Given the description of an element on the screen output the (x, y) to click on. 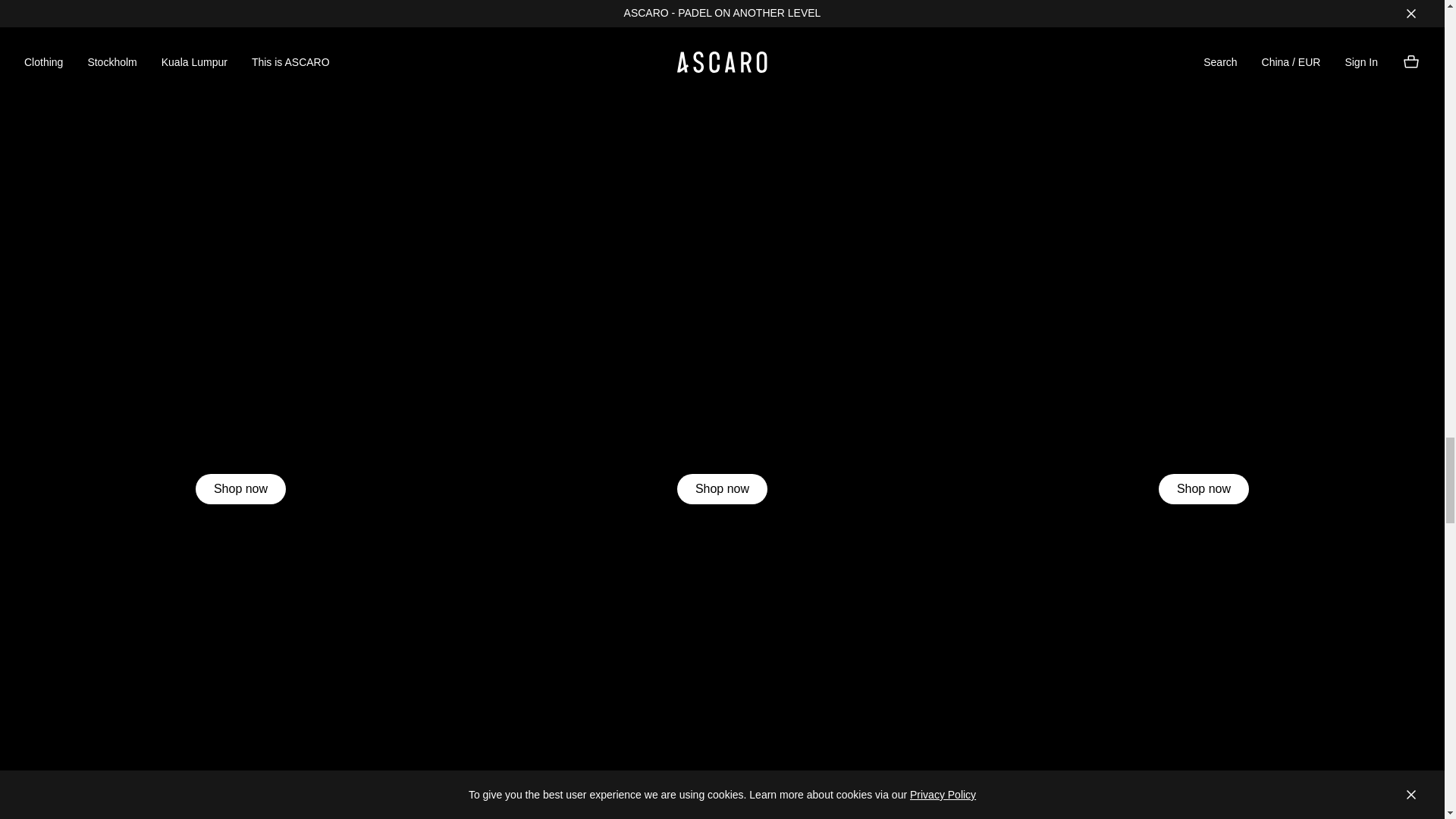
Shop now (1203, 489)
Shop now (722, 489)
Shop now (240, 489)
